Given the description of an element on the screen output the (x, y) to click on. 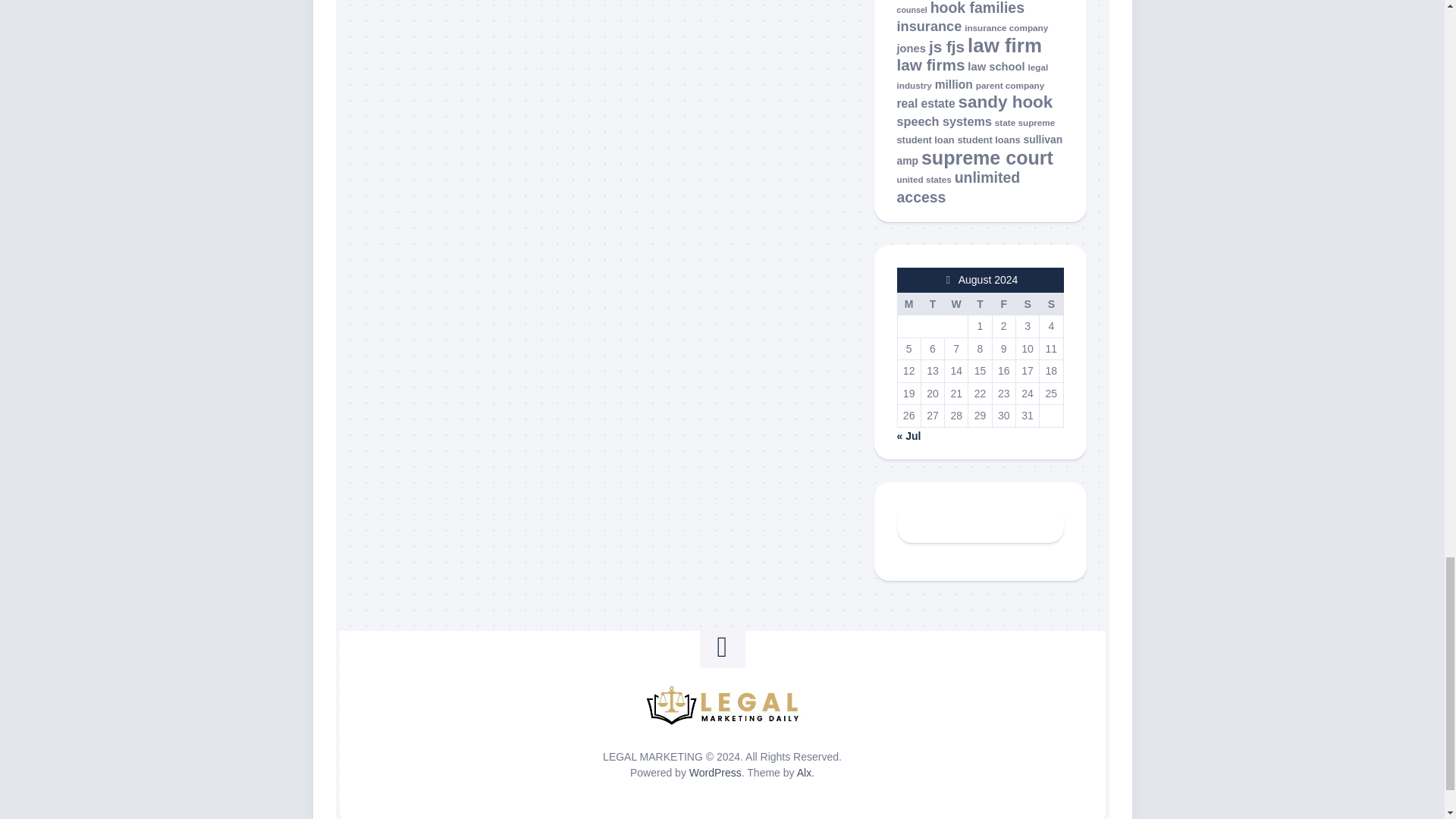
Tuesday (931, 303)
Monday (908, 303)
Saturday (1026, 303)
Sunday (1050, 303)
Friday (1002, 303)
Thursday (979, 303)
Wednesday (956, 303)
